Given the description of an element on the screen output the (x, y) to click on. 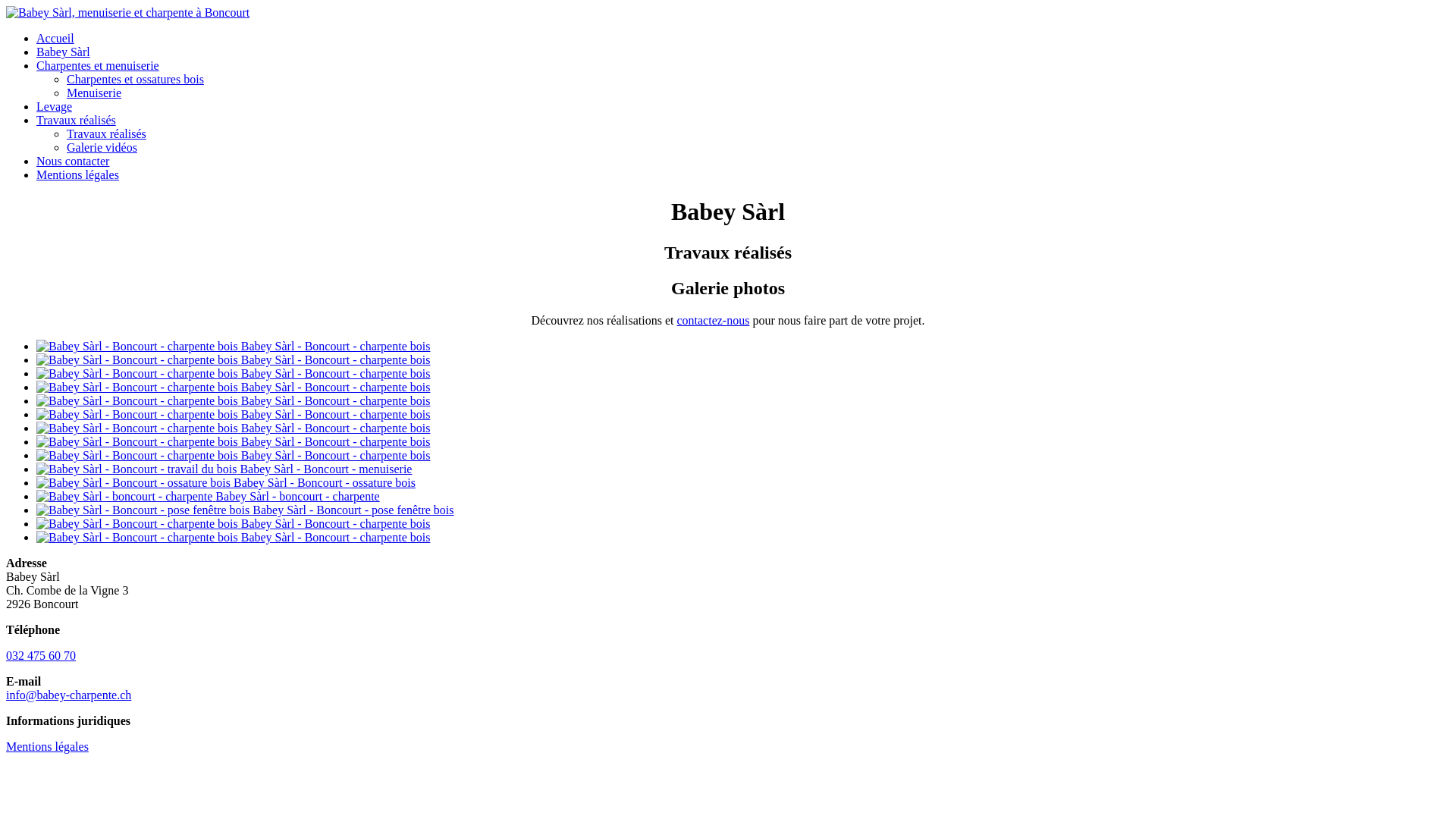
contactez-nous Element type: text (712, 319)
Menuiserie Element type: text (93, 92)
Charpentes et menuiserie Element type: text (97, 65)
Charpentes et ossatures bois Element type: text (134, 78)
032 475 60 70 Element type: text (40, 655)
Accueil Element type: text (55, 37)
Nous contacter Element type: text (72, 160)
info@babey-charpente.ch Element type: text (68, 694)
Levage Element type: text (54, 106)
